Given the description of an element on the screen output the (x, y) to click on. 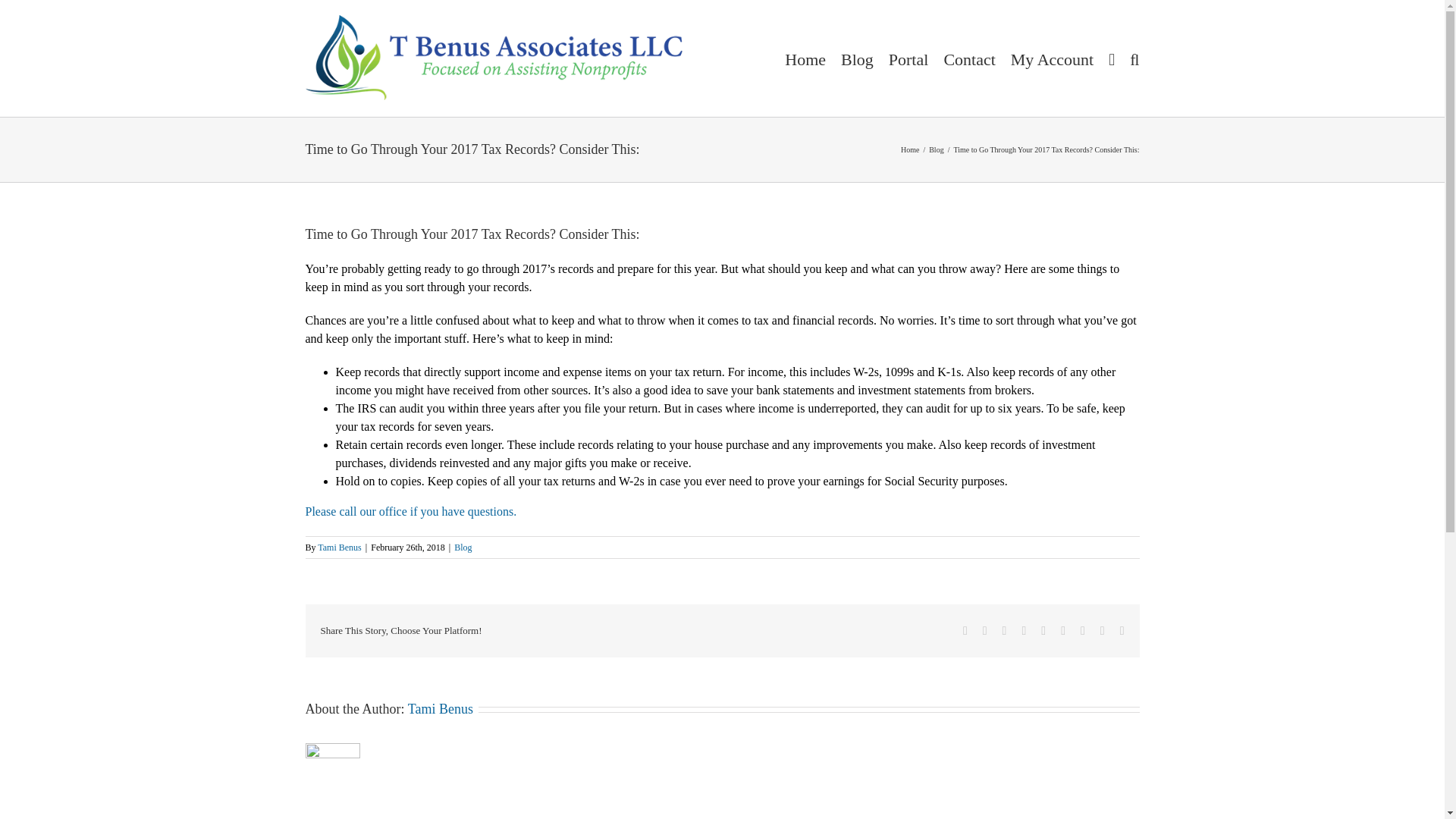
Blog (462, 547)
Tami Benus (339, 547)
Tami Benus (440, 708)
Posts by Tami Benus (440, 708)
Please call our office if you have questions. (410, 511)
Posts by Tami Benus (339, 547)
Home (909, 149)
Blog (935, 149)
